Given the description of an element on the screen output the (x, y) to click on. 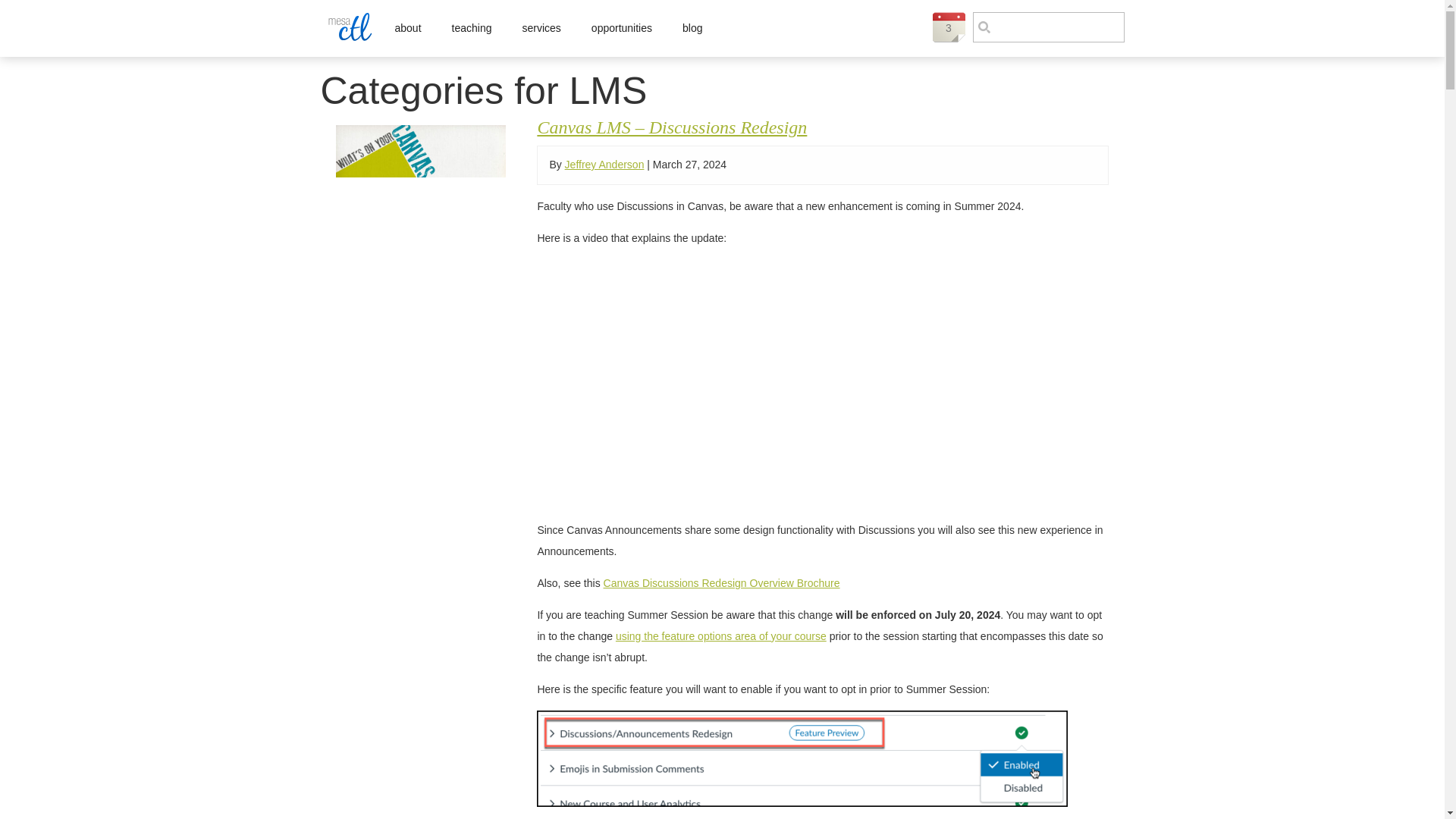
opportunities (621, 28)
View all posts by Jeffrey Anderson (604, 164)
Discussions Redesign Q1 2024 (748, 380)
Search CTL (1048, 27)
